Given the description of an element on the screen output the (x, y) to click on. 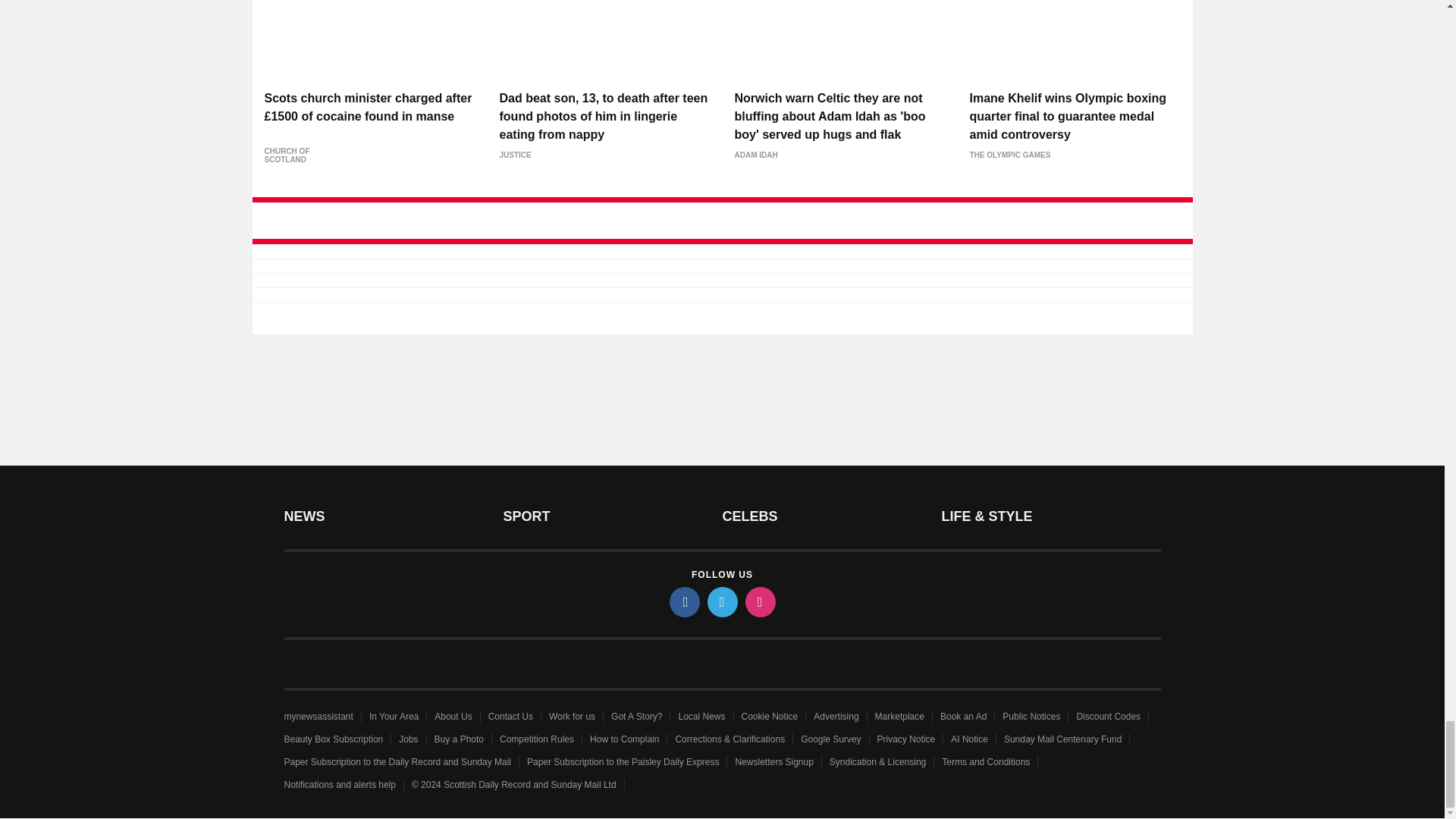
instagram (759, 602)
twitter (721, 602)
facebook (683, 602)
